Given the description of an element on the screen output the (x, y) to click on. 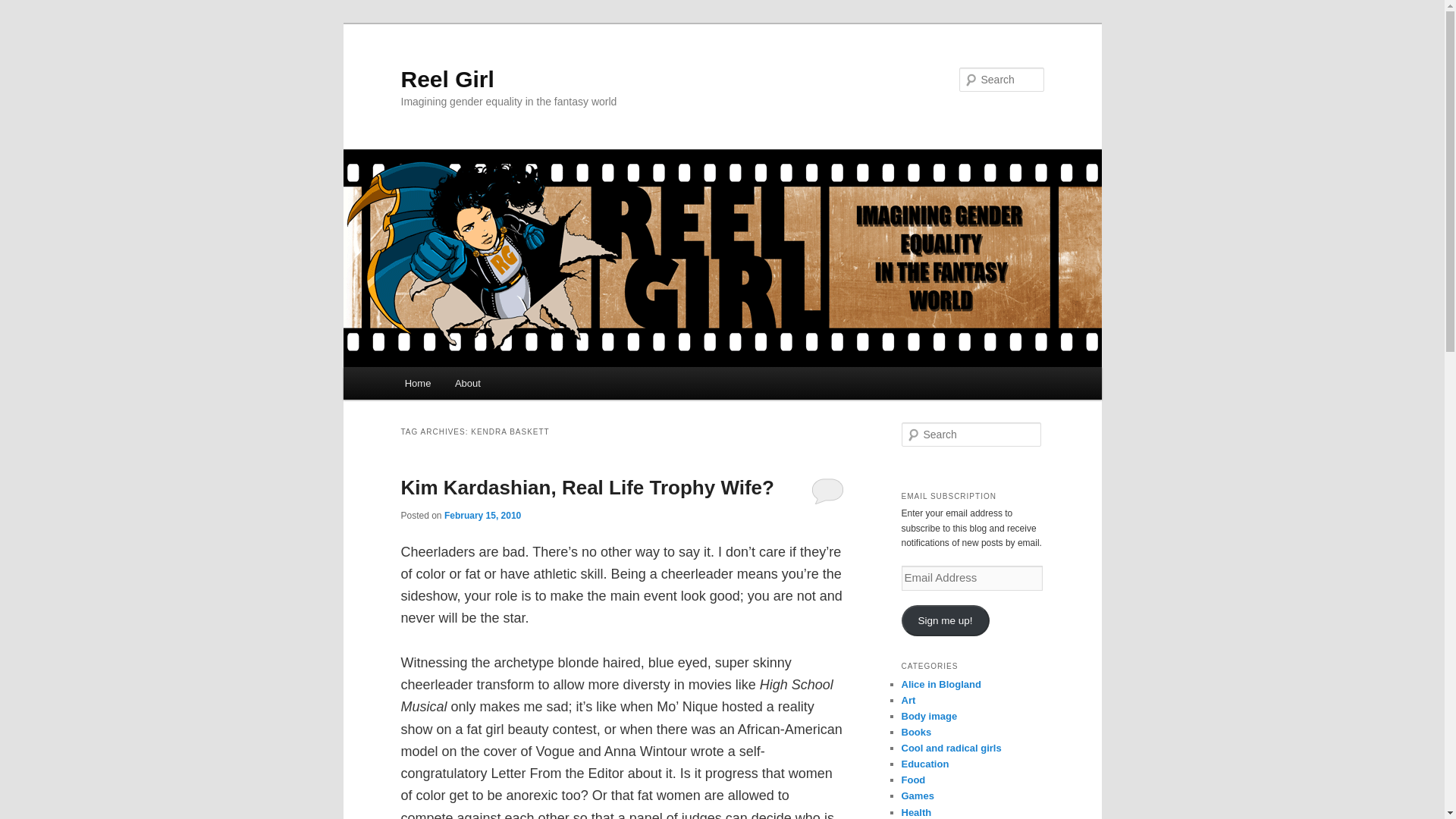
Art (908, 699)
Search (24, 8)
Cool and radical girls (951, 747)
Food (912, 779)
10:03 pm (482, 515)
Home (417, 382)
Kim Kardashian, Real Life Trophy Wife? (586, 486)
February 15, 2010 (482, 515)
Sign me up! (944, 620)
Search (21, 11)
About (467, 382)
Games (917, 795)
Alice in Blogland (940, 684)
Health (916, 812)
